Given the description of an element on the screen output the (x, y) to click on. 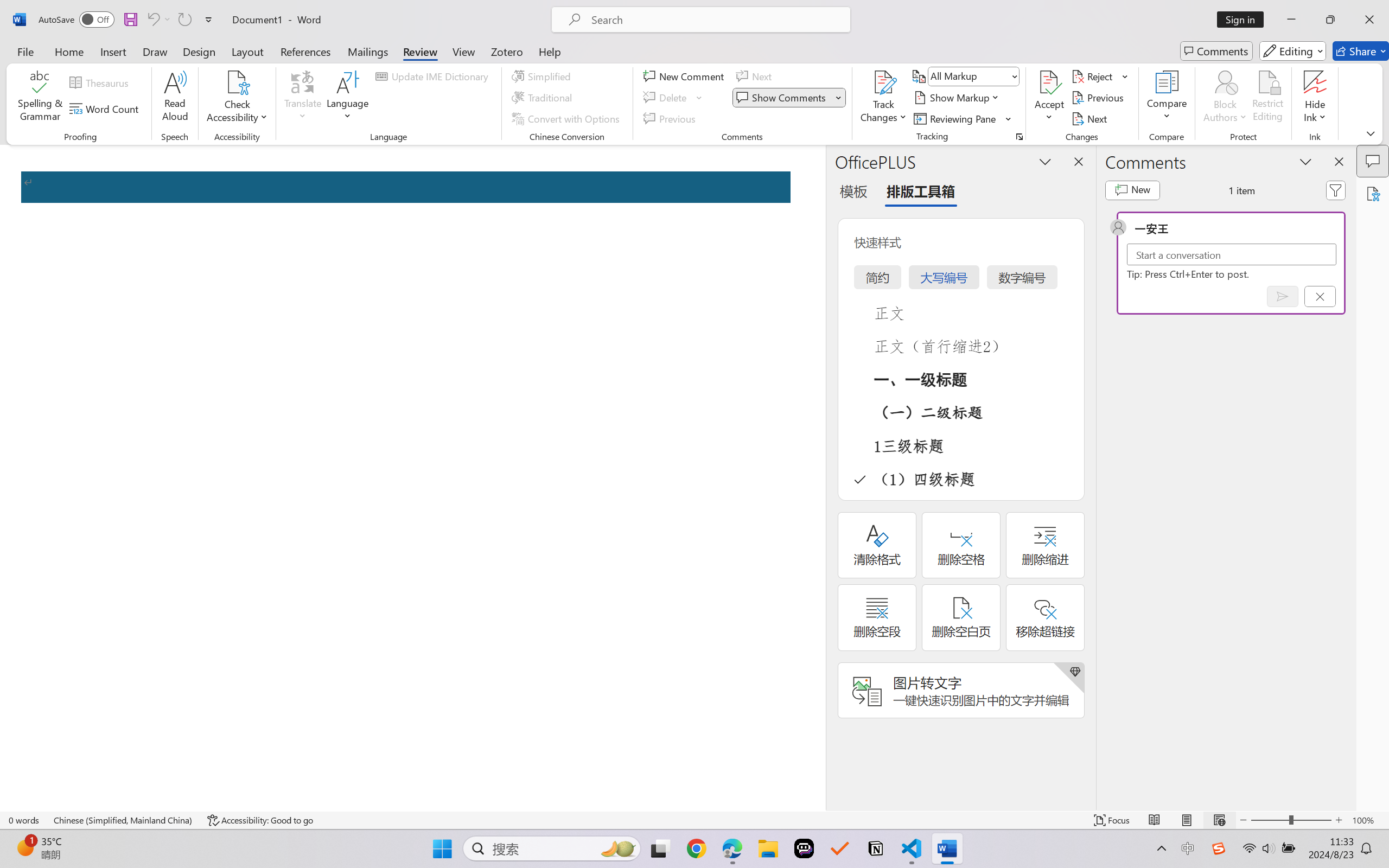
Previous (1099, 97)
Language Chinese (Simplified, Mainland China) (123, 819)
Hide Ink (1315, 81)
New Comment (685, 75)
Check Accessibility (237, 97)
Sign in (1244, 19)
Undo Apply Quick Style Set (152, 19)
